Given the description of an element on the screen output the (x, y) to click on. 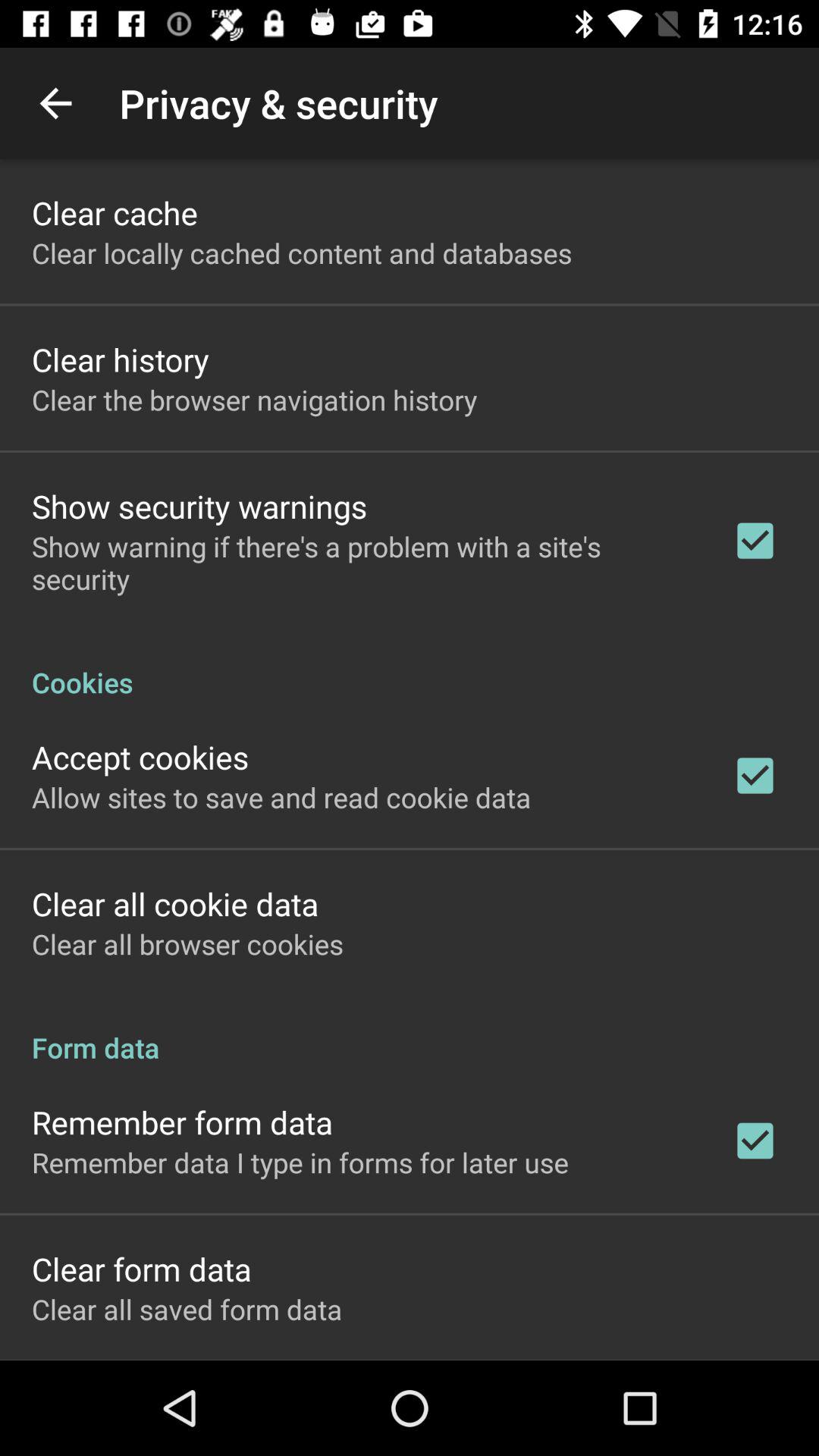
choose the item below clear cache item (301, 252)
